Given the description of an element on the screen output the (x, y) to click on. 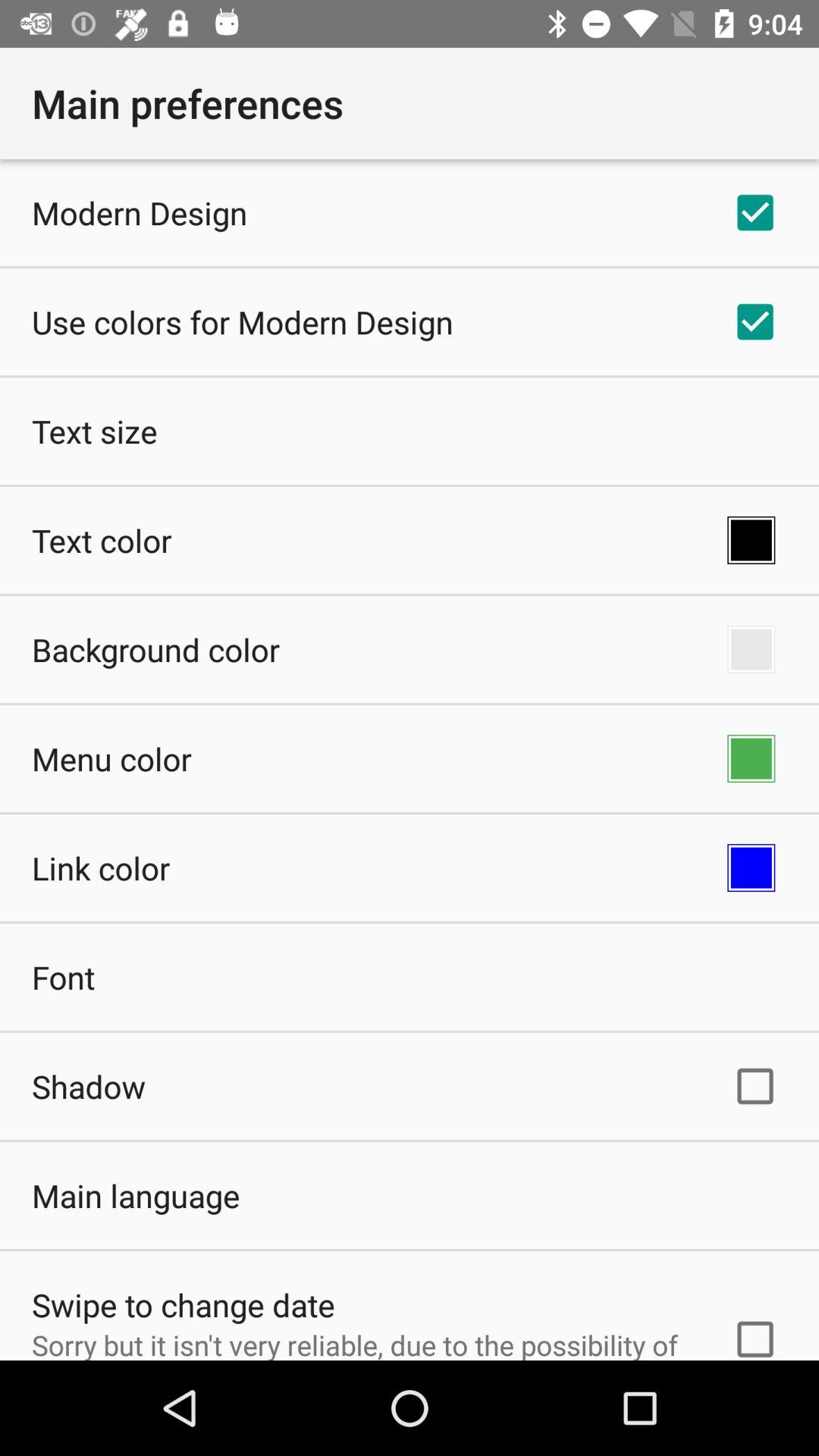
choose app to the right of the link color (751, 867)
